Given the description of an element on the screen output the (x, y) to click on. 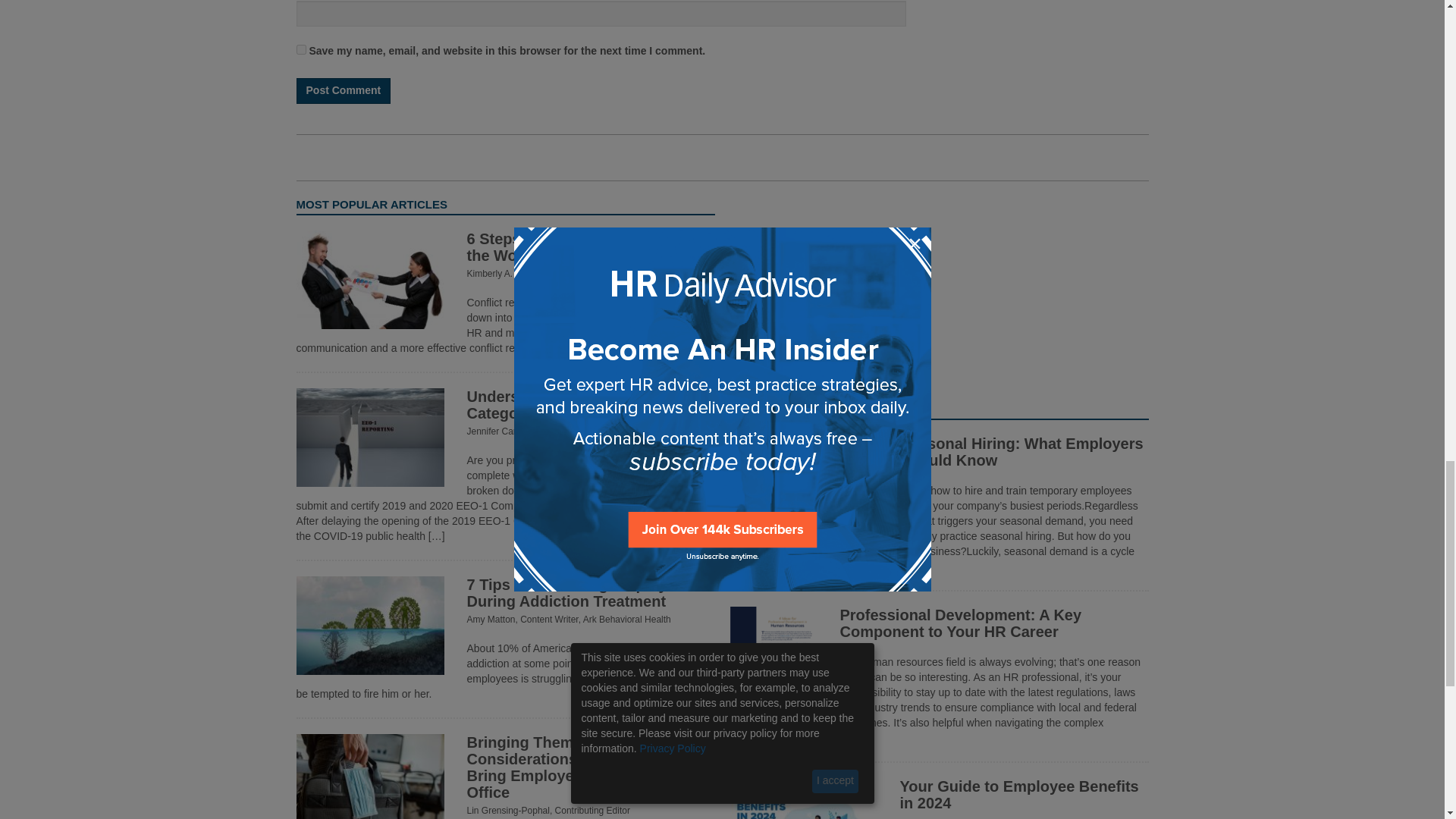
yes (300, 49)
3rd party ad content (938, 290)
Post Comment (342, 90)
